Given the description of an element on the screen output the (x, y) to click on. 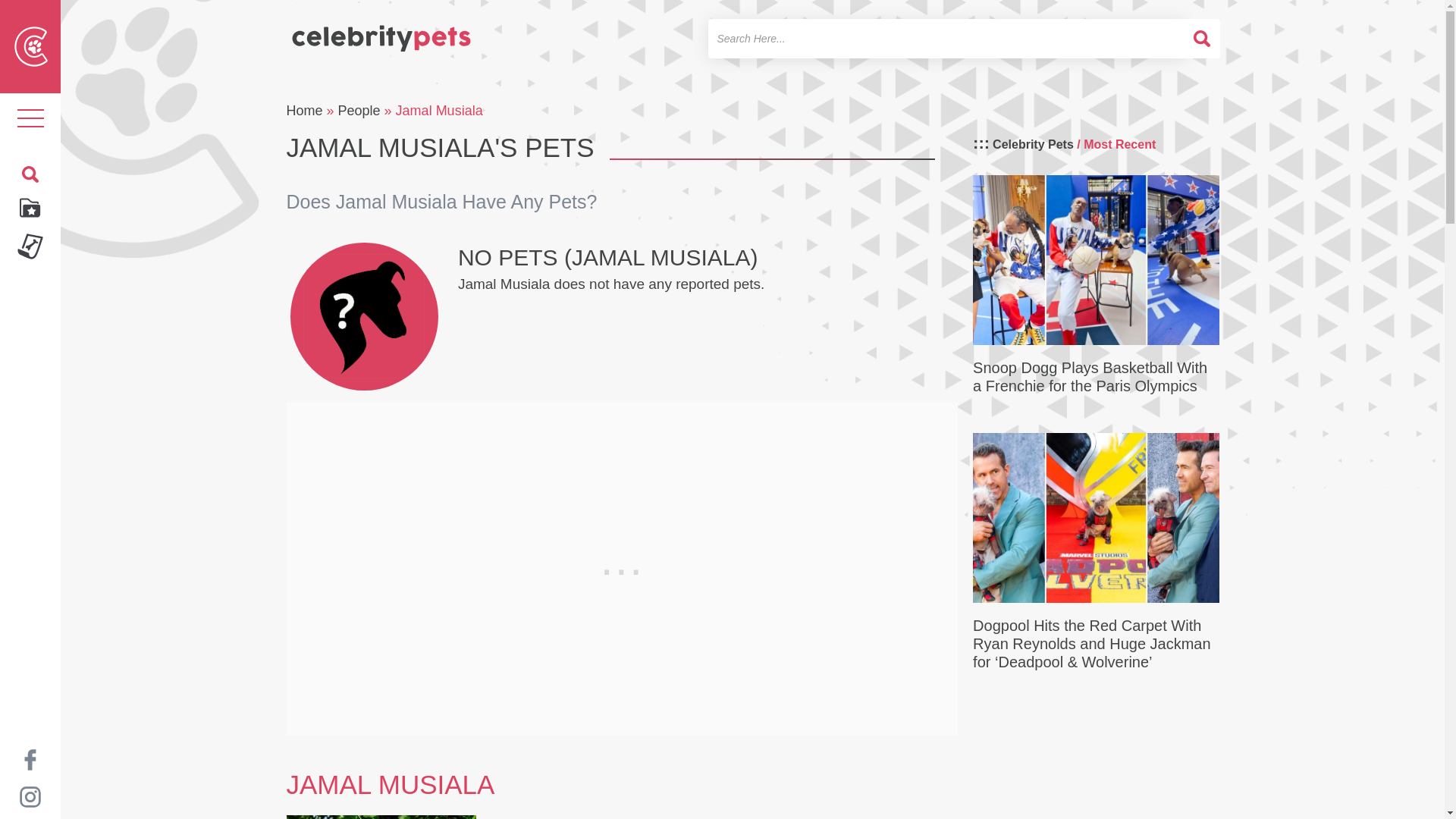
Celebrty Pets (381, 32)
Celebrty Pets Icon (31, 45)
Toggle navigation (29, 117)
Celebrity Pets on Instagram (29, 795)
Search for (946, 38)
Celebrity Pets on Facebook (29, 758)
